Given the description of an element on the screen output the (x, y) to click on. 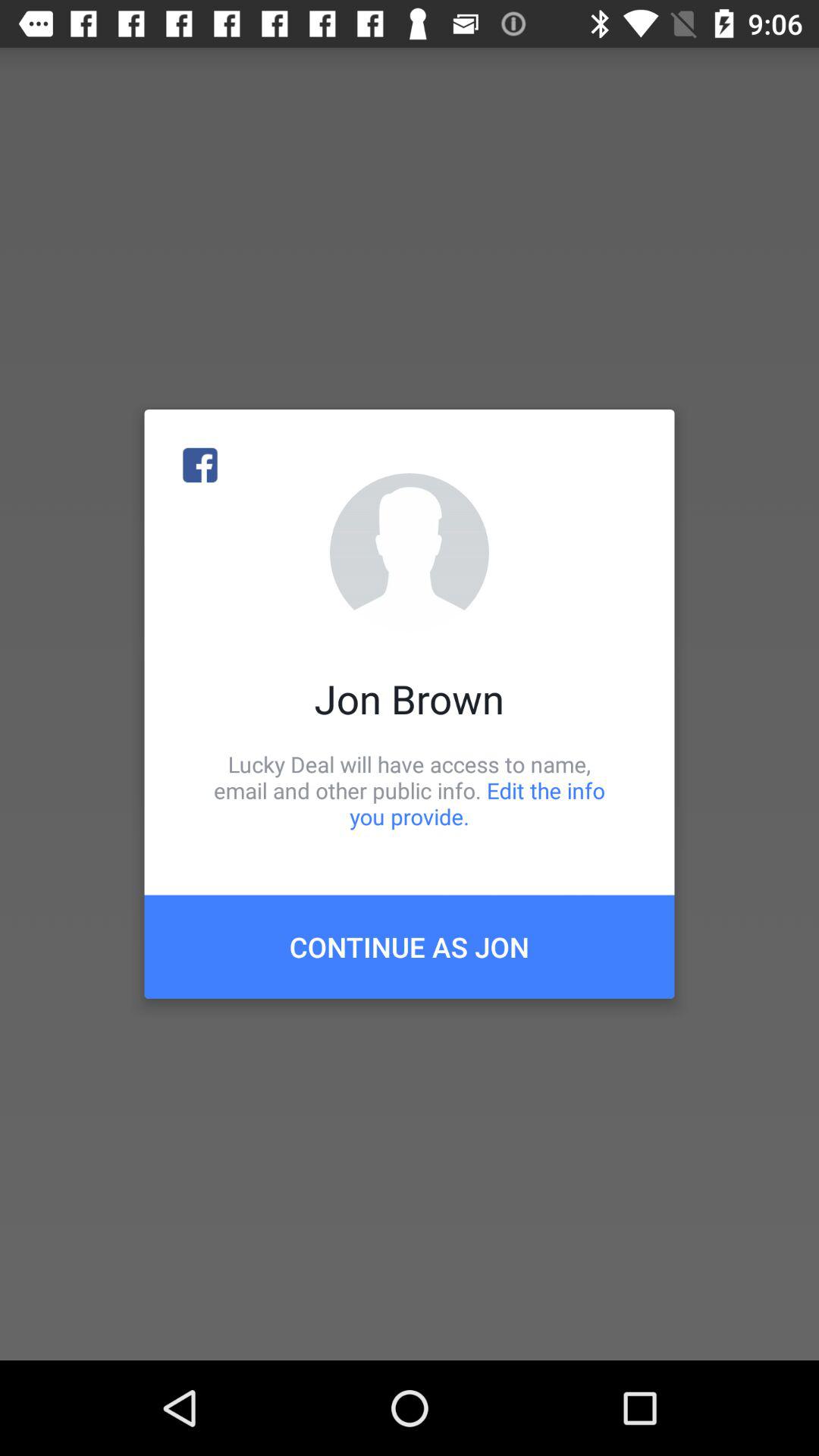
jump until the lucky deal will icon (409, 790)
